Given the description of an element on the screen output the (x, y) to click on. 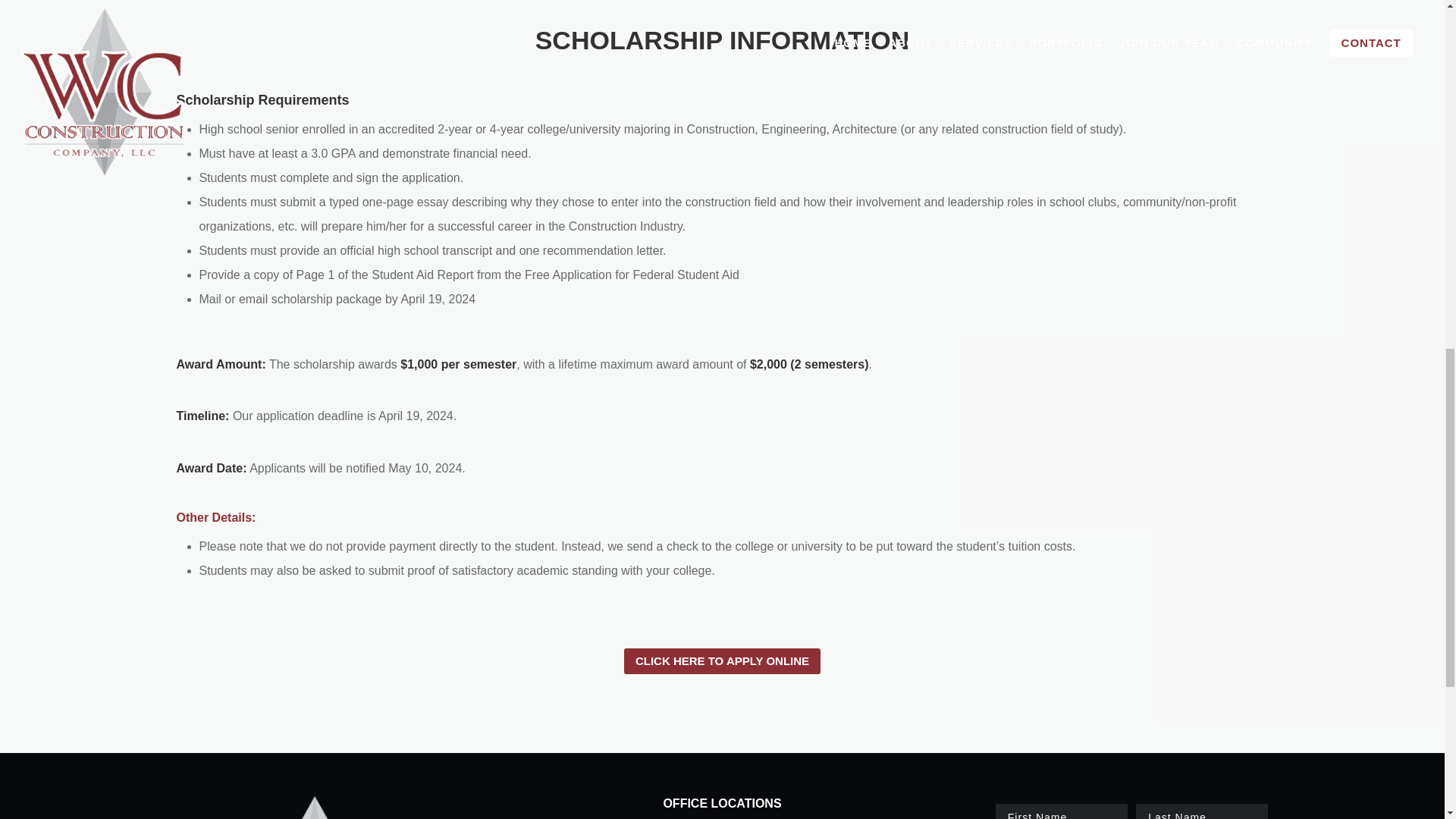
CLICK HERE TO APPLY ONLINE (722, 661)
wclogo (312, 807)
